Given the description of an element on the screen output the (x, y) to click on. 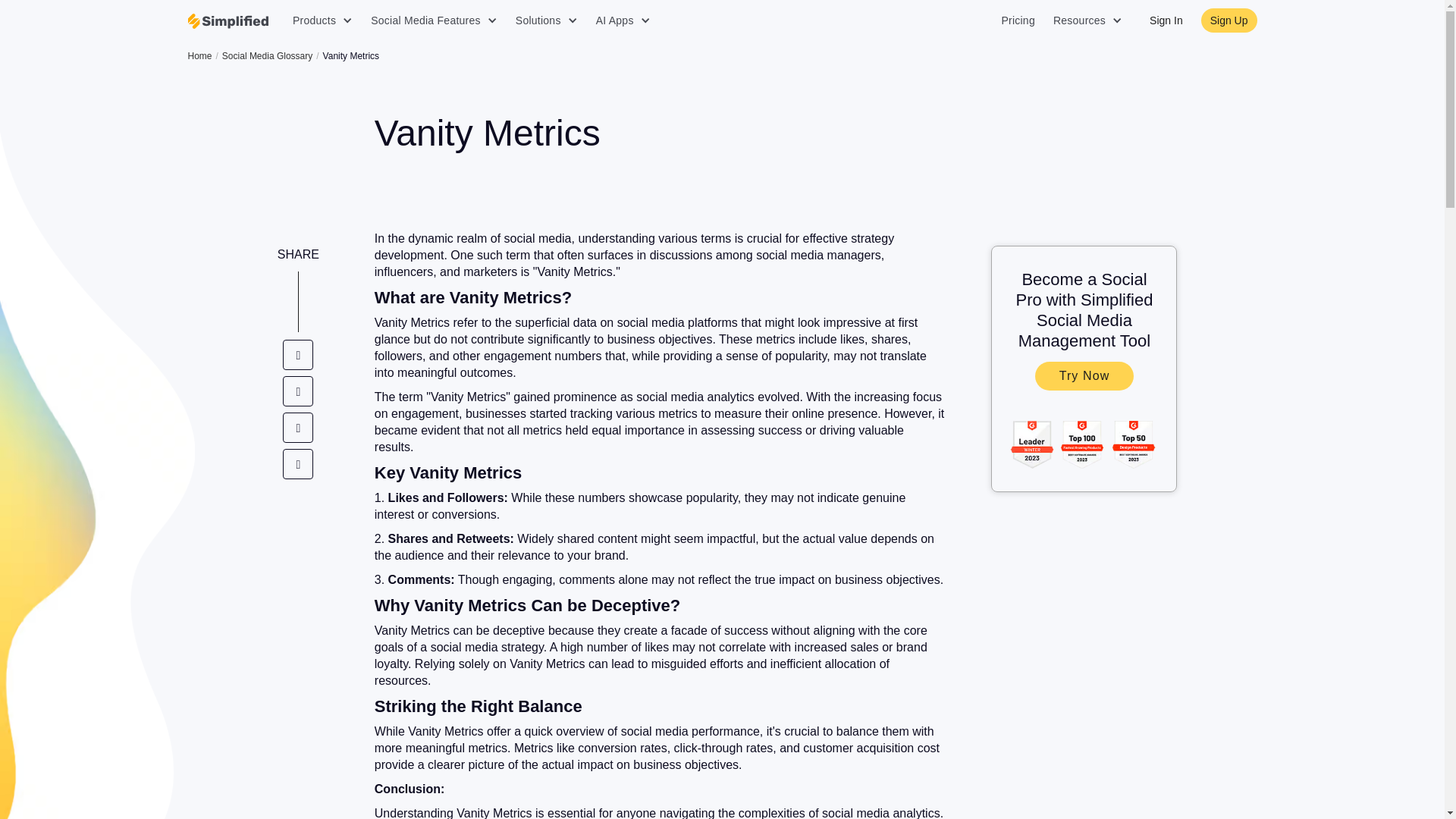
Simplified (228, 20)
